Given the description of an element on the screen output the (x, y) to click on. 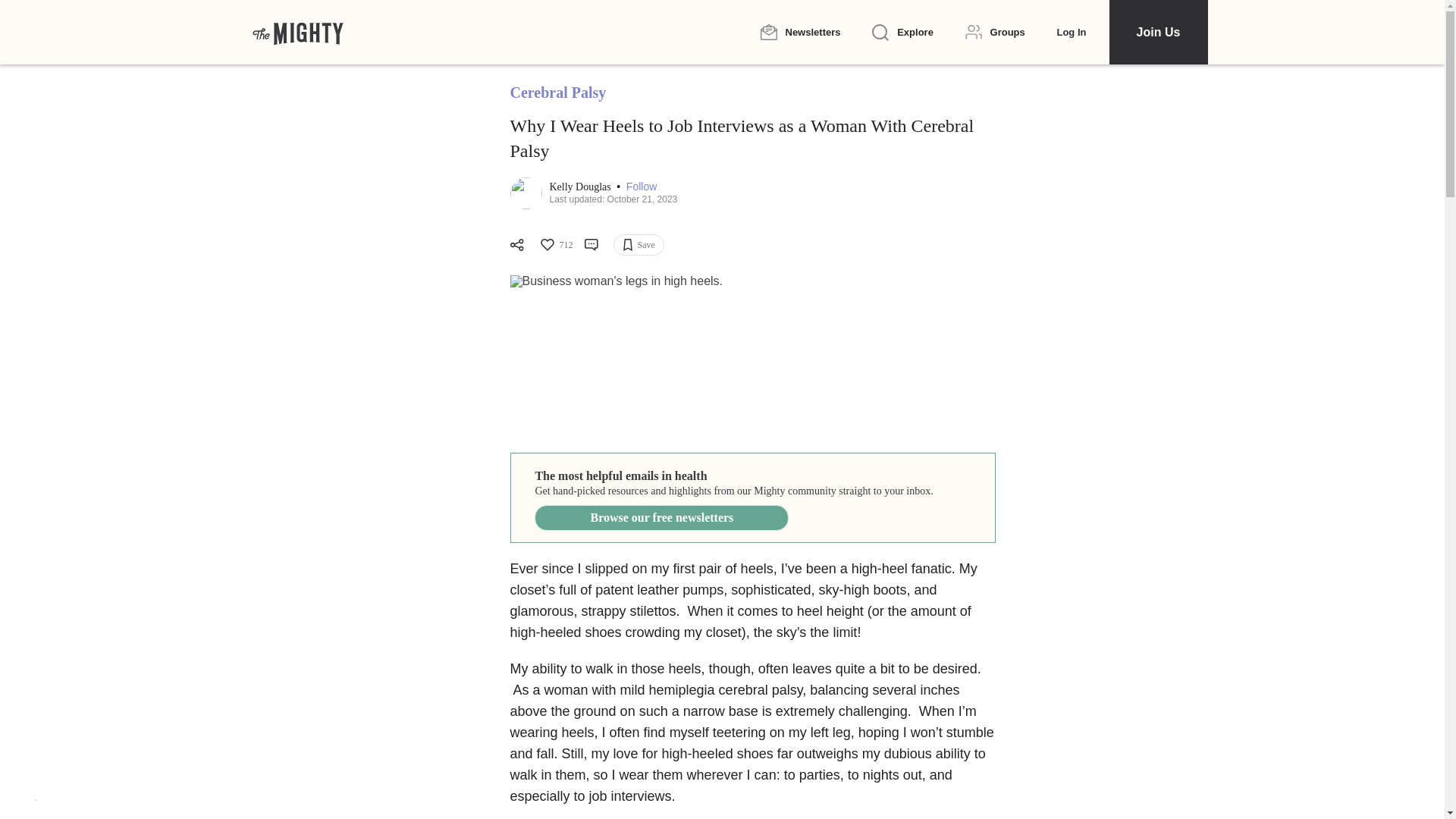
Finding Employment as a Woman With Cerebral Palsy (751, 356)
Kelly Douglas (580, 186)
Cerebral Palsy (557, 92)
Save (637, 244)
Explore (902, 32)
712 (555, 244)
Browse our free newsletters (661, 517)
Follow (641, 186)
Join Us (1157, 32)
The Mighty (296, 32)
